Given the description of an element on the screen output the (x, y) to click on. 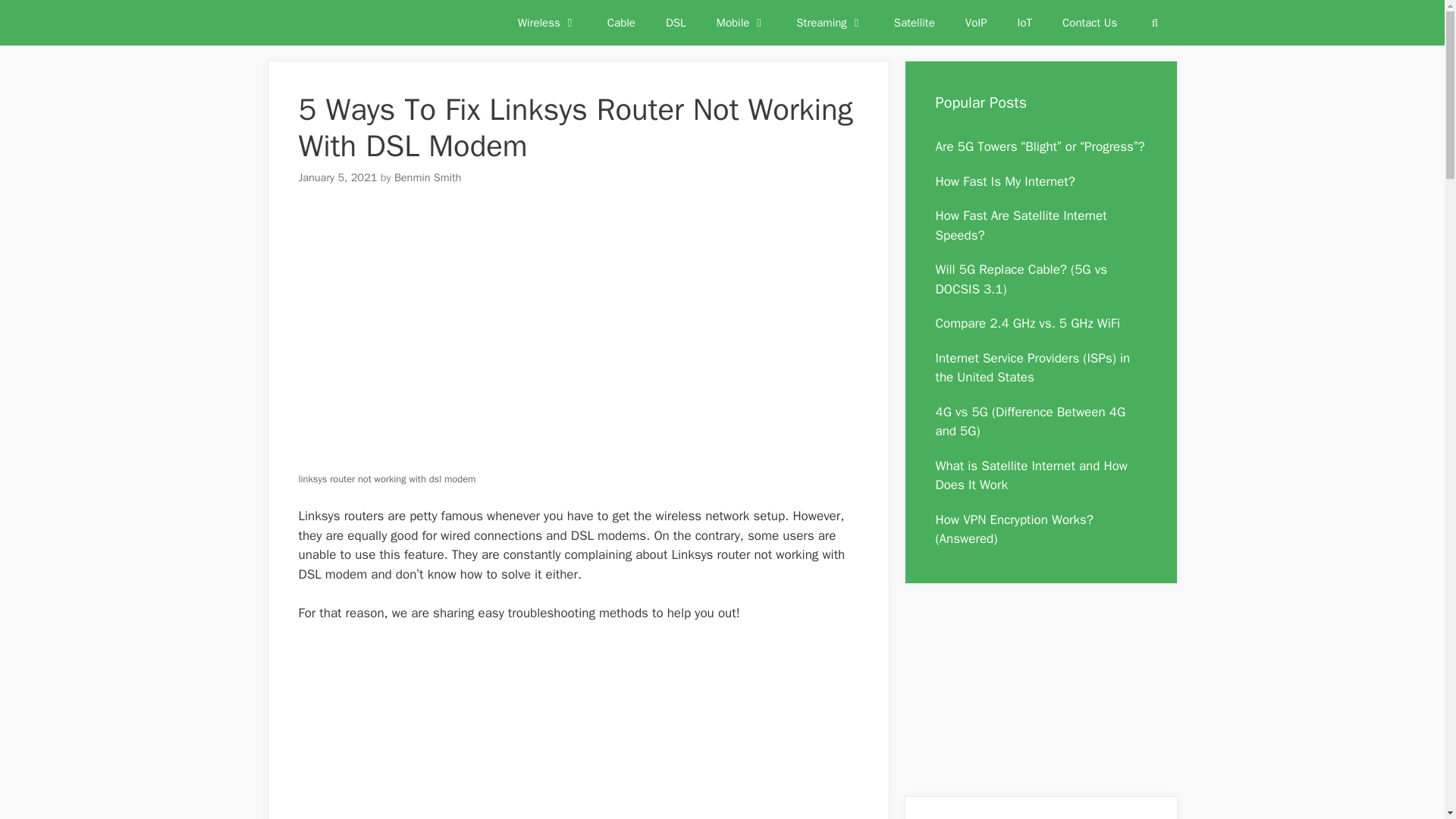
DSL (675, 22)
5:52 am (337, 177)
January 5, 2021 (337, 177)
Benmin Smith (427, 177)
Wireless (547, 22)
VoIP (976, 22)
Internet Access Guide (335, 22)
Cable (621, 22)
Streaming (829, 22)
Mobile (741, 22)
Internet Access Guide (331, 22)
View all posts by Benmin Smith (427, 177)
Satellite (914, 22)
IoT (1024, 22)
Contact Us (1089, 22)
